Given the description of an element on the screen output the (x, y) to click on. 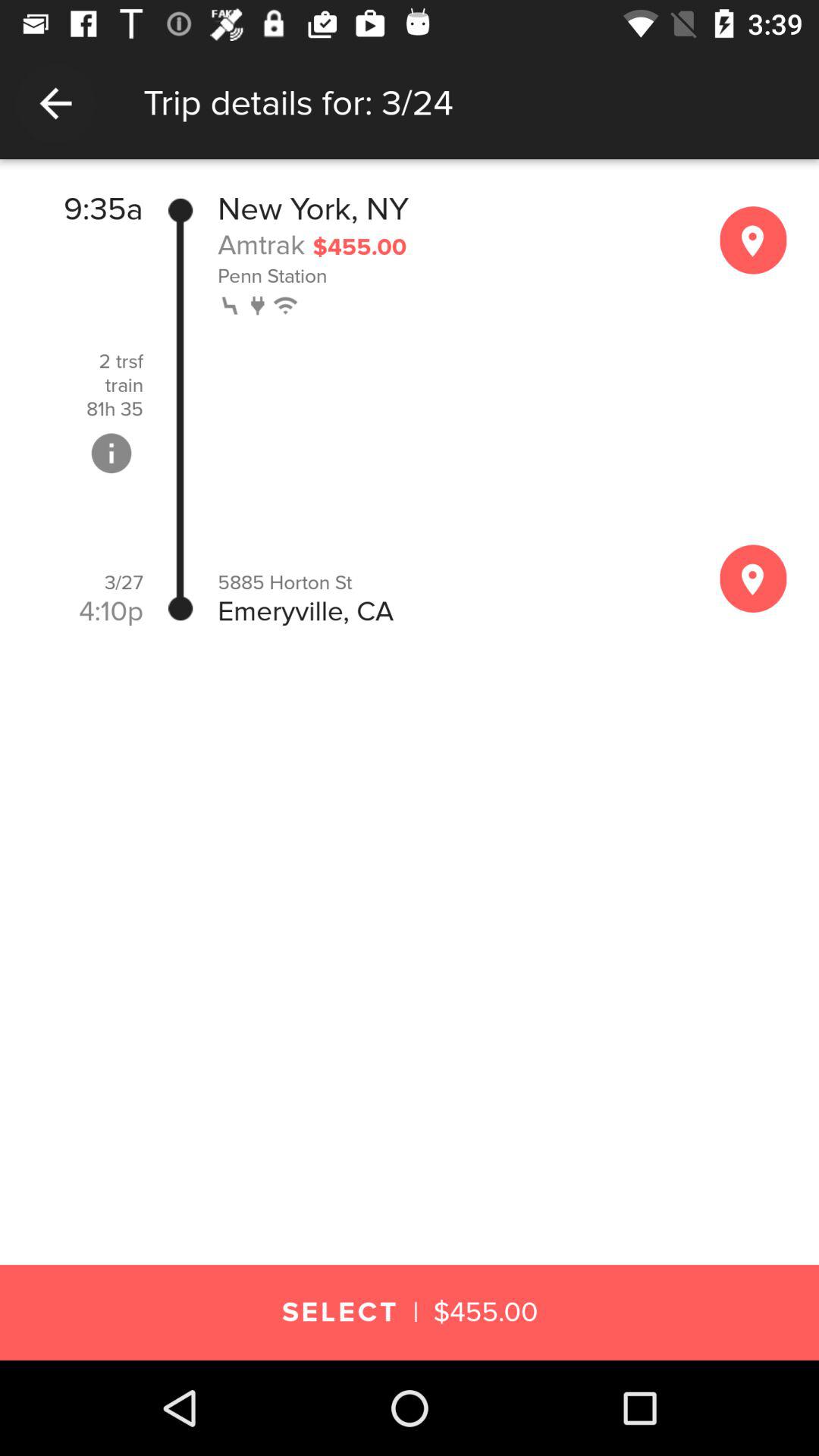
go back (55, 103)
